Given the description of an element on the screen output the (x, y) to click on. 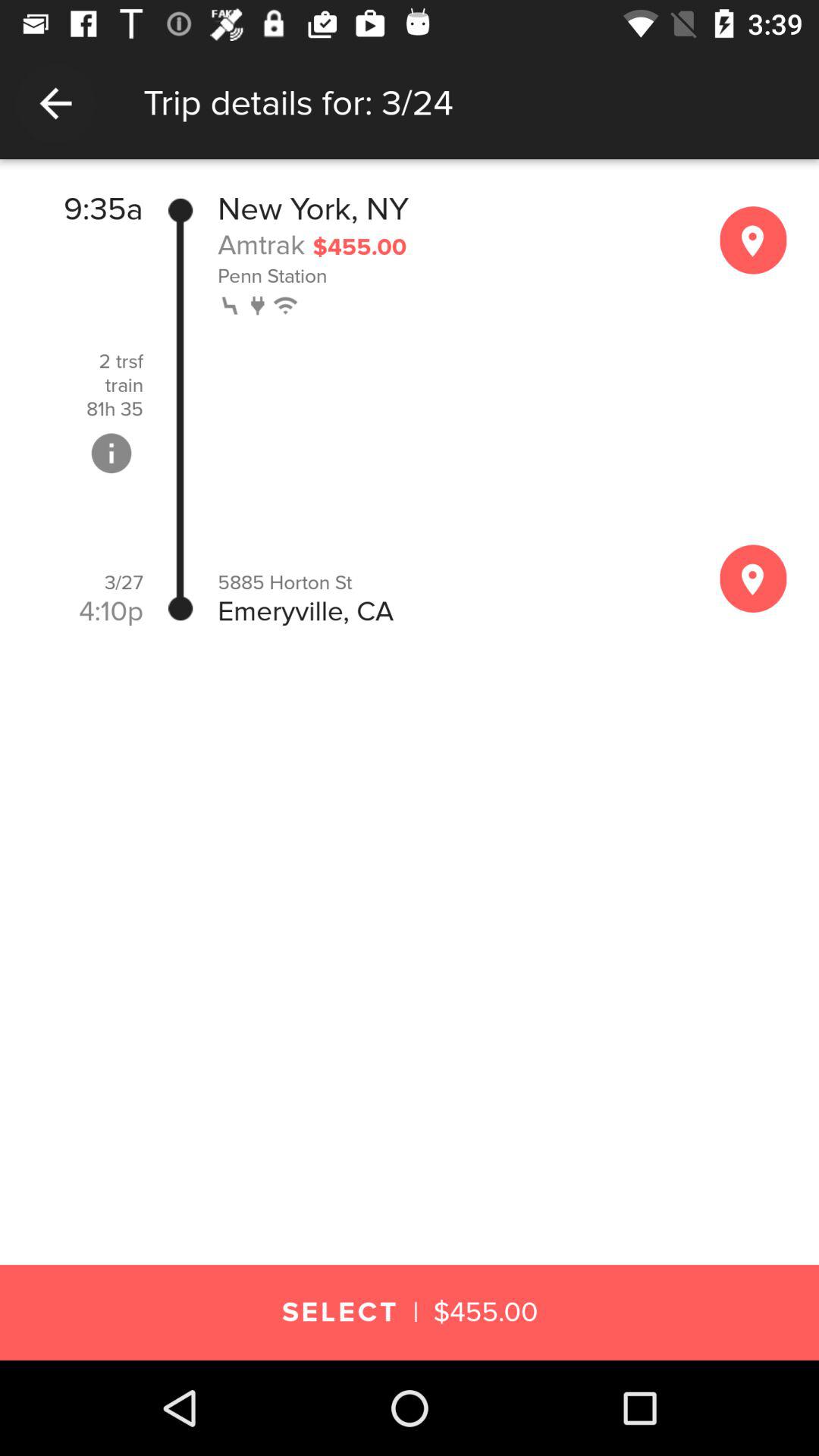
go back (55, 103)
